Given the description of an element on the screen output the (x, y) to click on. 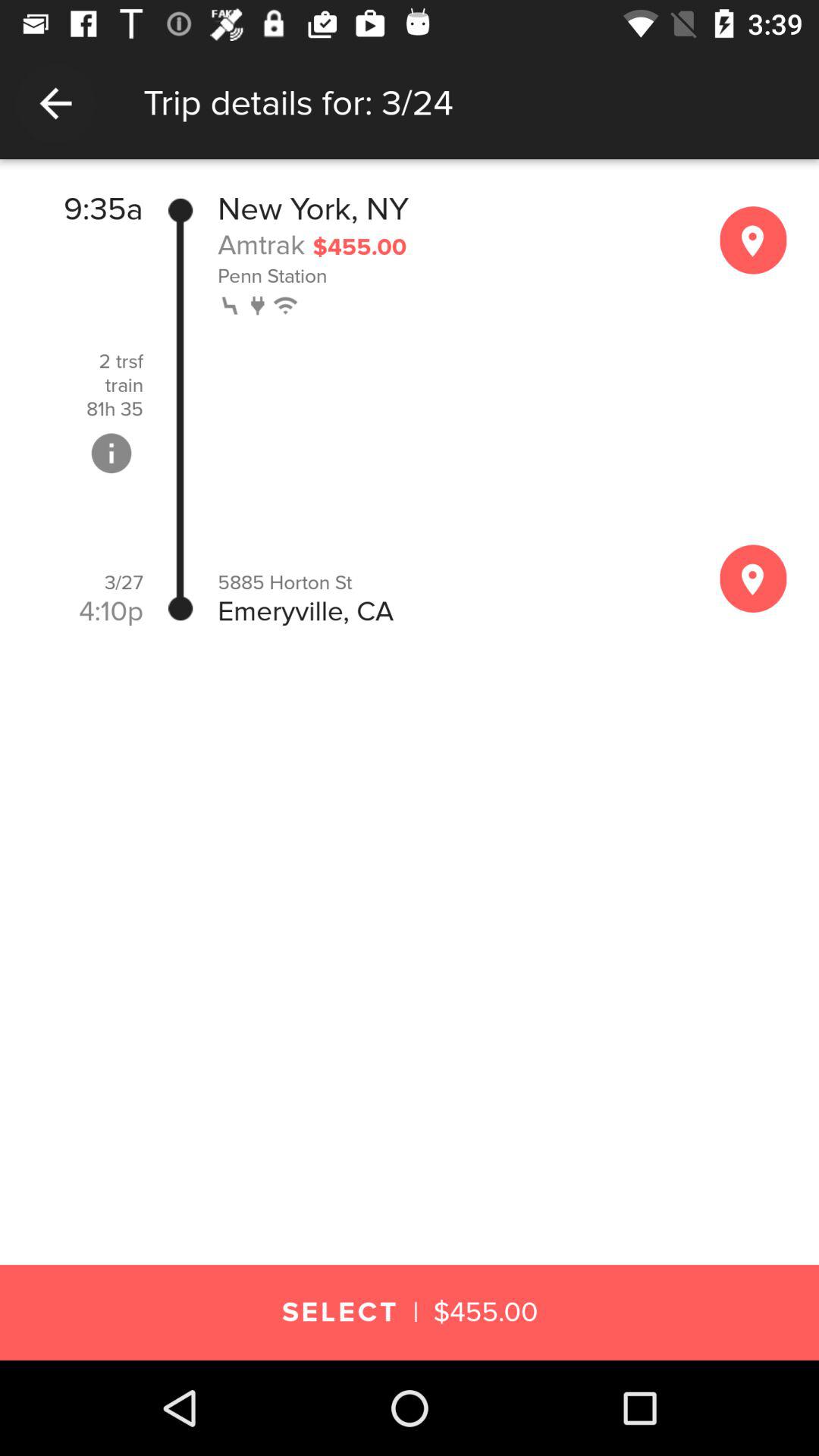
go back (55, 103)
